Given the description of an element on the screen output the (x, y) to click on. 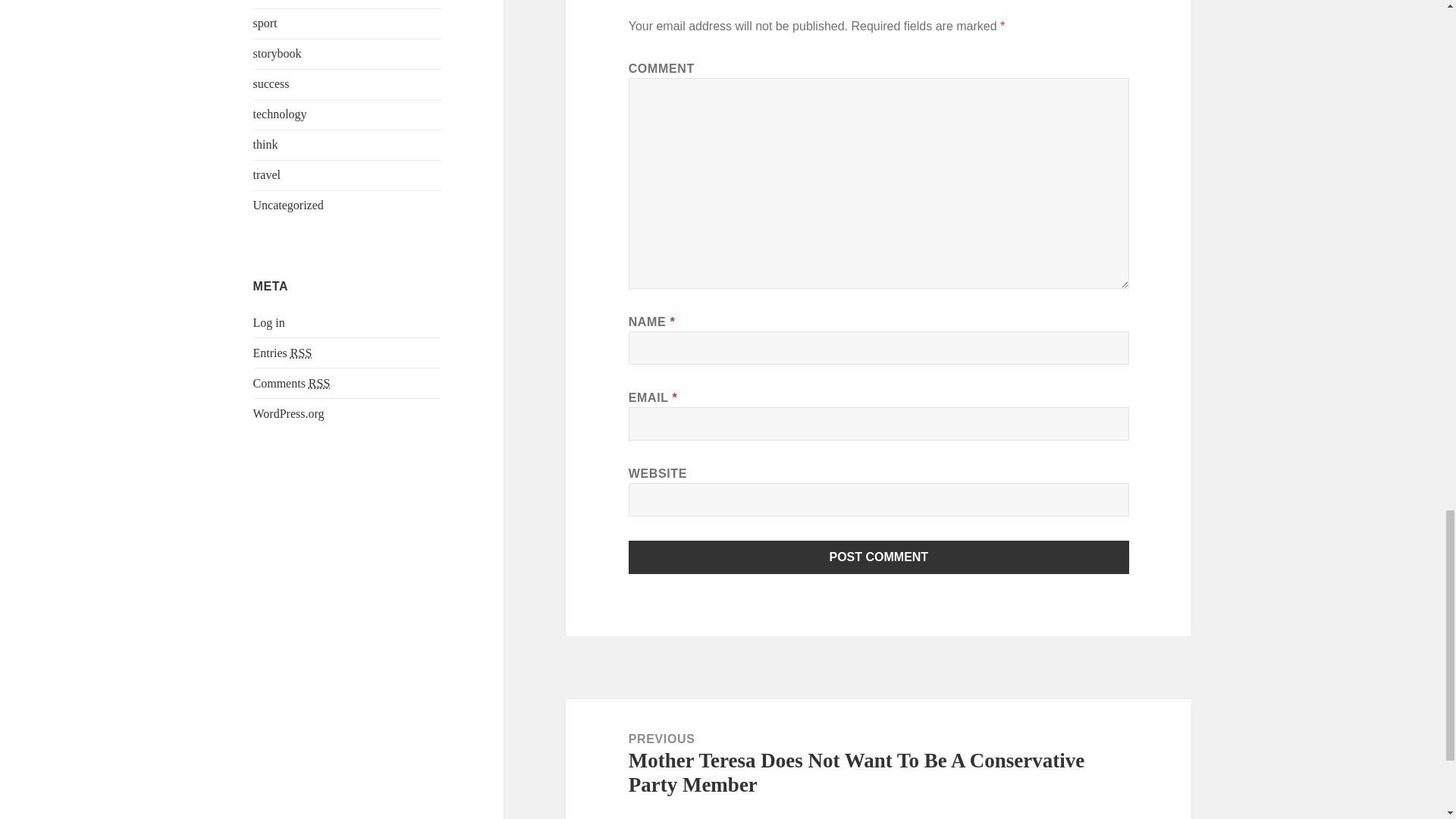
Really Simple Syndication (300, 353)
sport (265, 22)
storybook (277, 52)
success (271, 83)
Really Simple Syndication (319, 383)
Post Comment (878, 557)
